Given the description of an element on the screen output the (x, y) to click on. 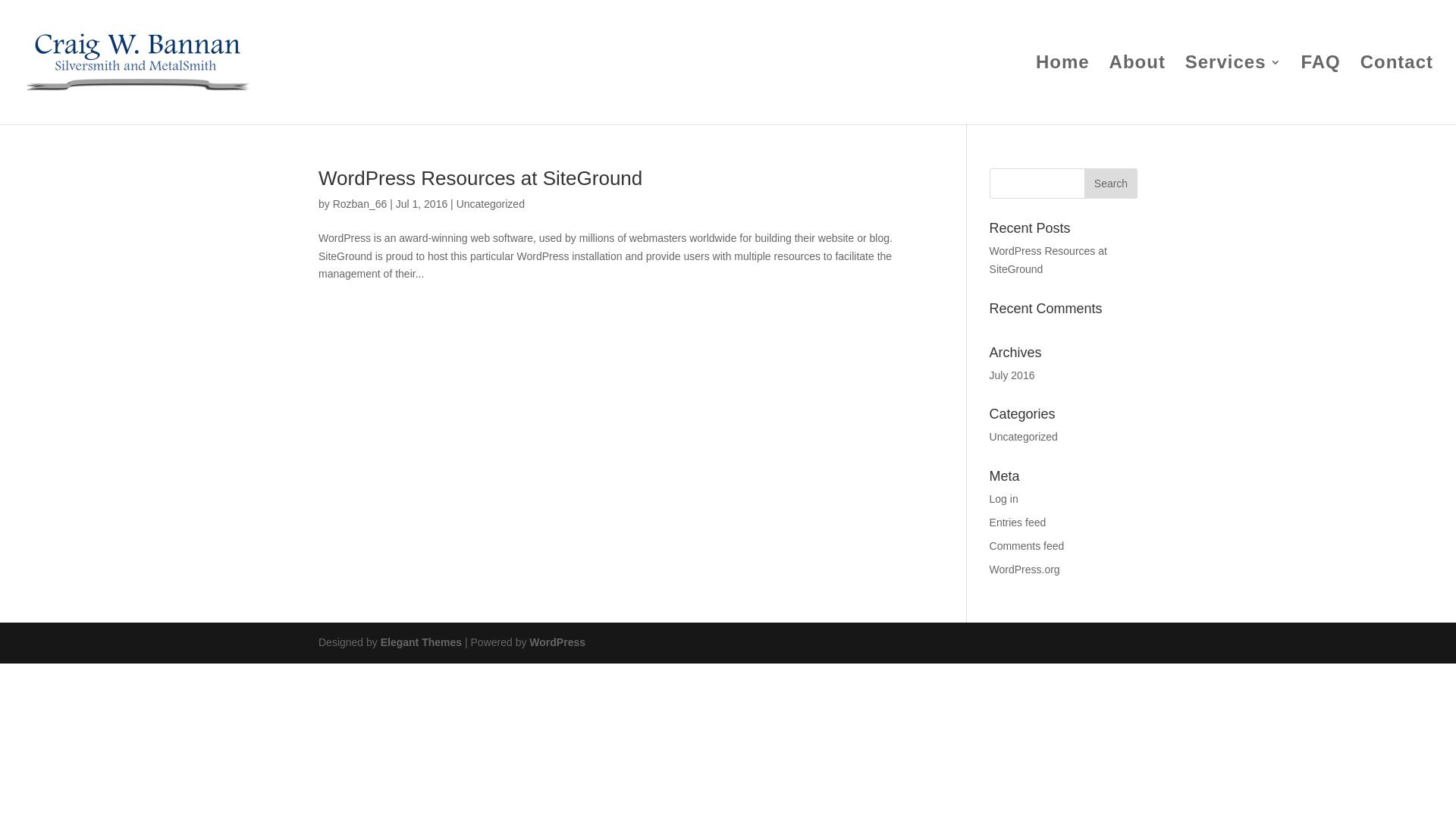
Contact Element type: text (1396, 90)
WordPress Element type: text (557, 642)
Log in Element type: text (1003, 498)
Comments feed Element type: text (1026, 545)
About Element type: text (1137, 90)
Uncategorized Element type: text (490, 203)
Home Element type: text (1062, 90)
July 2016 Element type: text (1012, 375)
Entries feed Element type: text (1017, 522)
Rozban_66 Element type: text (359, 203)
WordPress.org Element type: text (1024, 569)
Elegant Themes Element type: text (420, 642)
WordPress Resources at SiteGround Element type: text (1048, 259)
Search Element type: text (1110, 183)
Services Element type: text (1233, 90)
Uncategorized Element type: text (1023, 436)
WordPress Resources at SiteGround Element type: text (480, 177)
FAQ Element type: text (1319, 90)
